Given the description of an element on the screen output the (x, y) to click on. 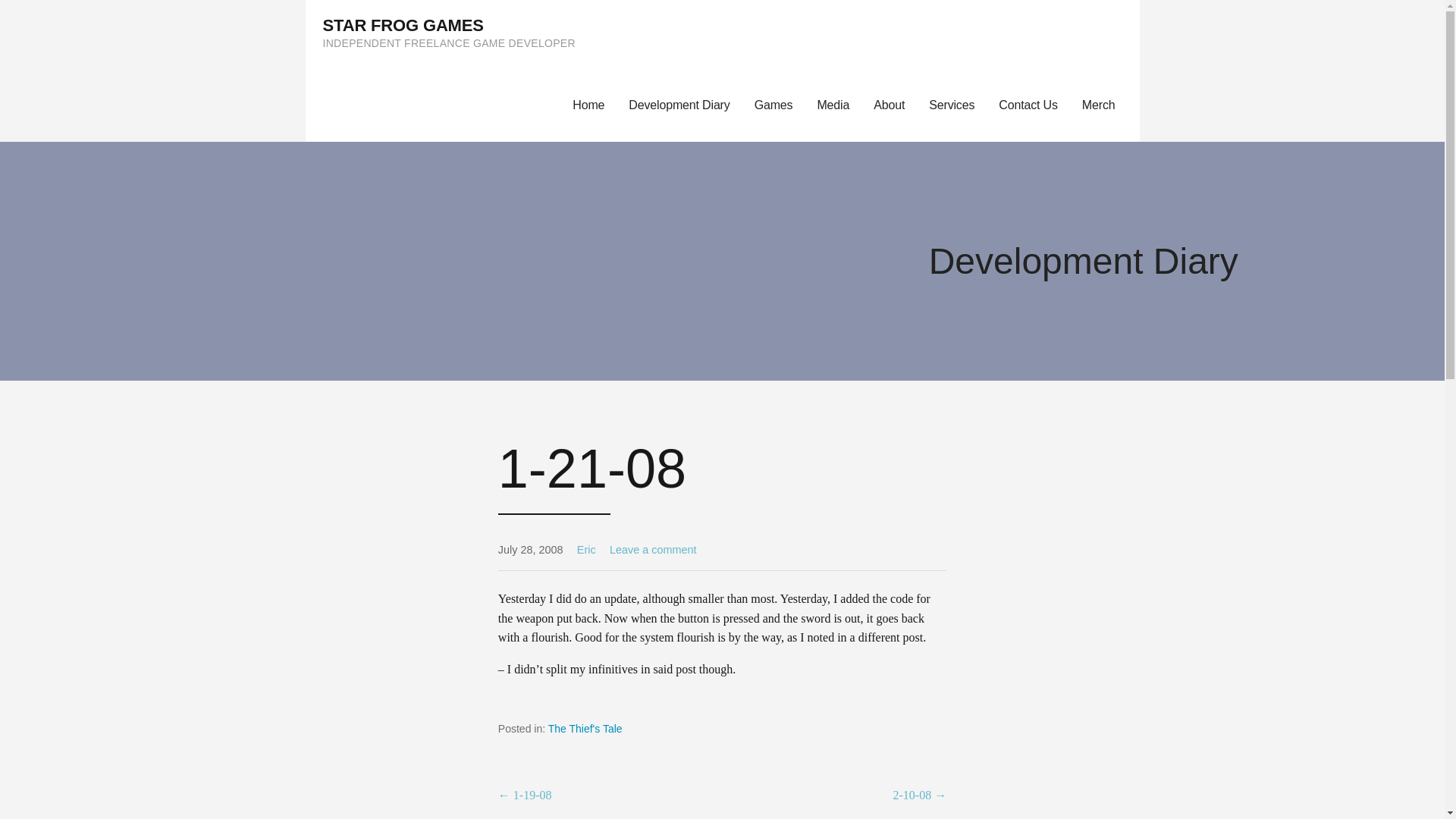
Development Diary (678, 105)
Eric (585, 549)
Posts by Eric (585, 549)
The Thief's Tale (585, 728)
Leave a comment (652, 549)
STAR FROG GAMES (403, 25)
Merch (1105, 105)
Services (952, 105)
Contact Us (1028, 105)
